Given the description of an element on the screen output the (x, y) to click on. 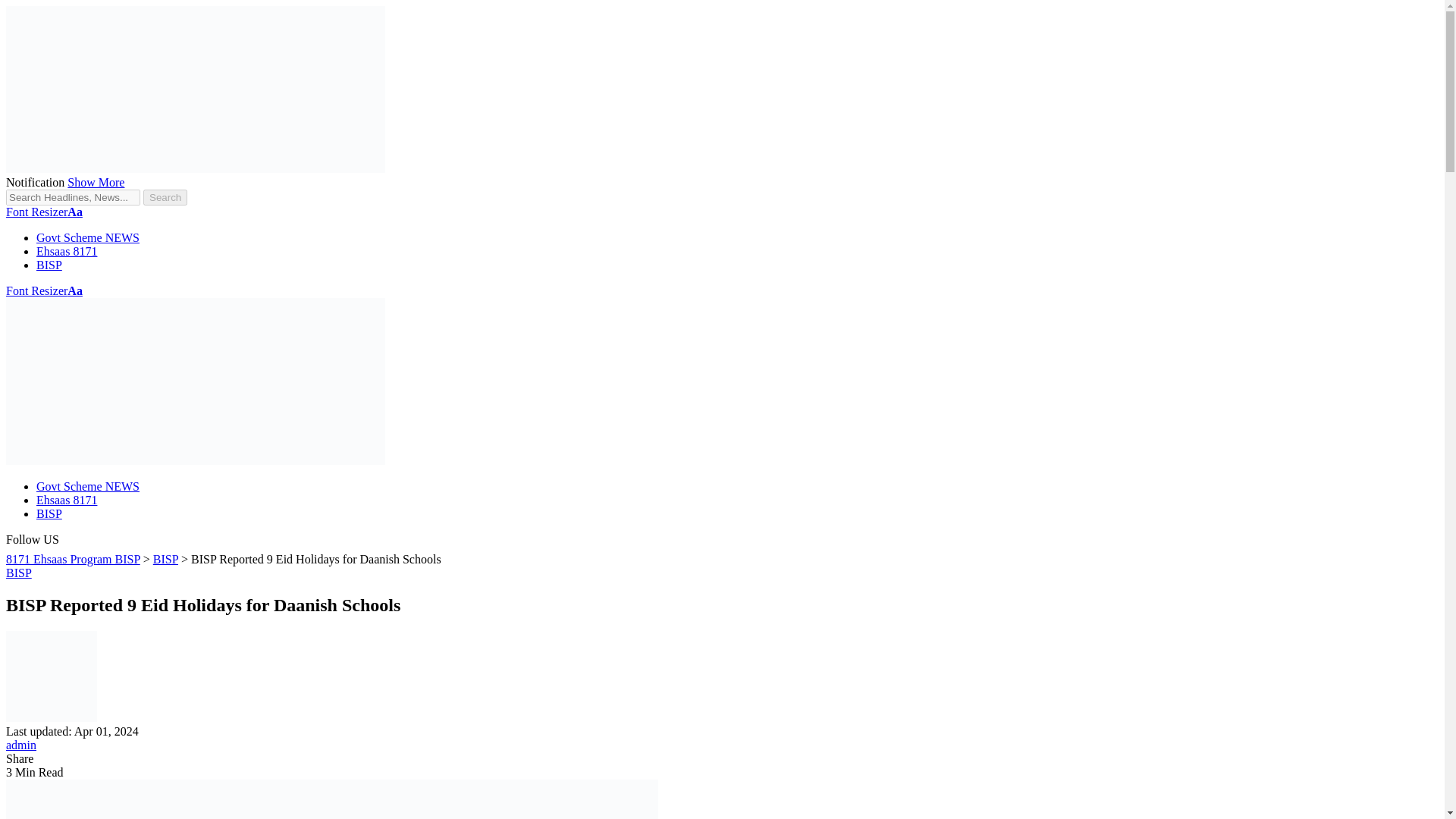
Ehsaas 8171 (66, 499)
admin (20, 744)
Font ResizerAa (43, 211)
8171 Ehsaas Program BISP (195, 168)
BISP (49, 513)
Search (164, 197)
8171 Ehsaas Program BISP (72, 558)
BISP (49, 264)
Go to the BISP Category archives. (164, 558)
8171 Ehsaas Program BISP (195, 460)
Go to 8171 Ehsaas Program BISP. (72, 558)
Govt Scheme NEWS (87, 237)
Search (164, 197)
Ehsaas 8171 (66, 250)
Font ResizerAa (43, 290)
